Given the description of an element on the screen output the (x, y) to click on. 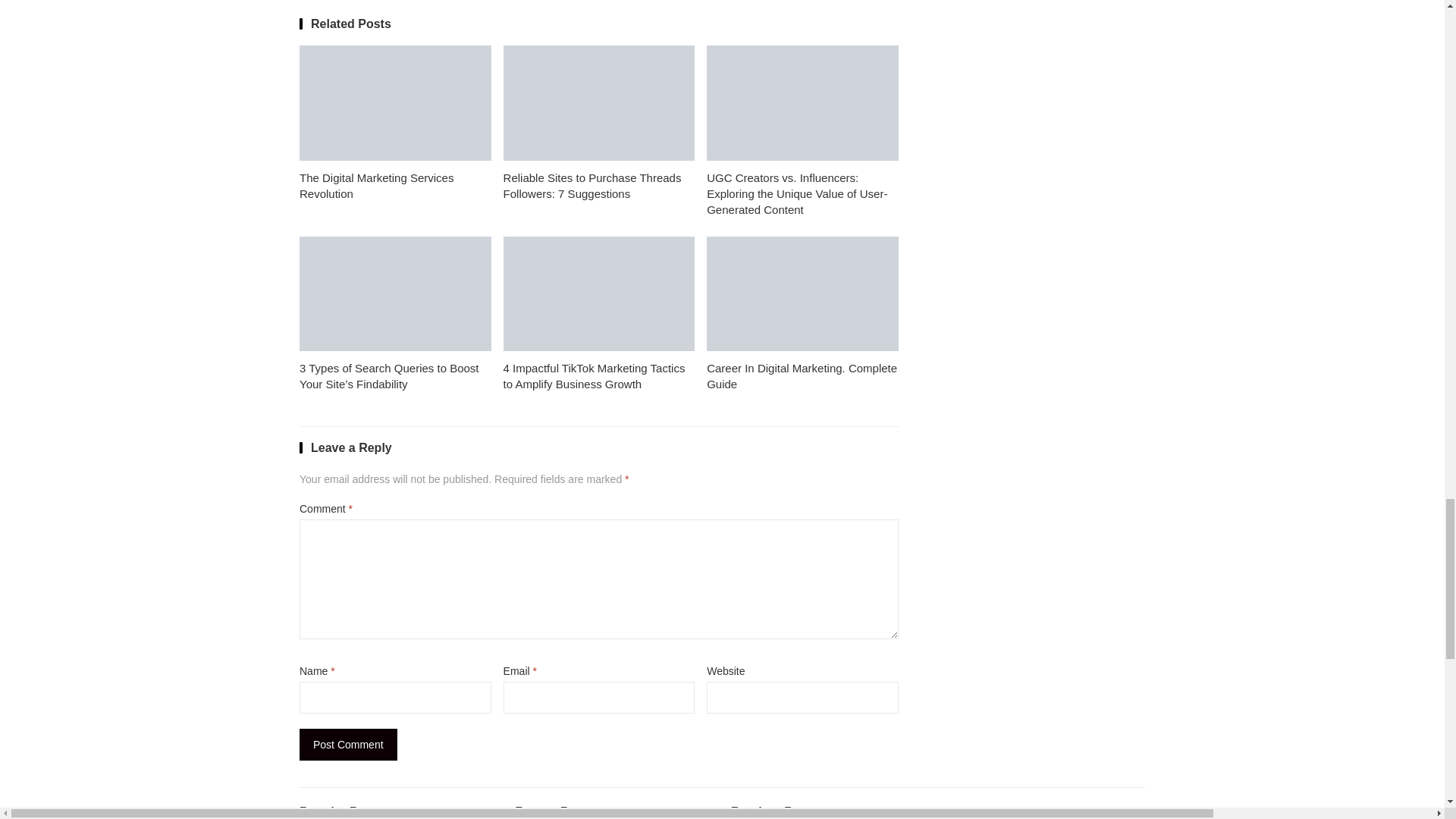
Post Comment (348, 744)
